Given the description of an element on the screen output the (x, y) to click on. 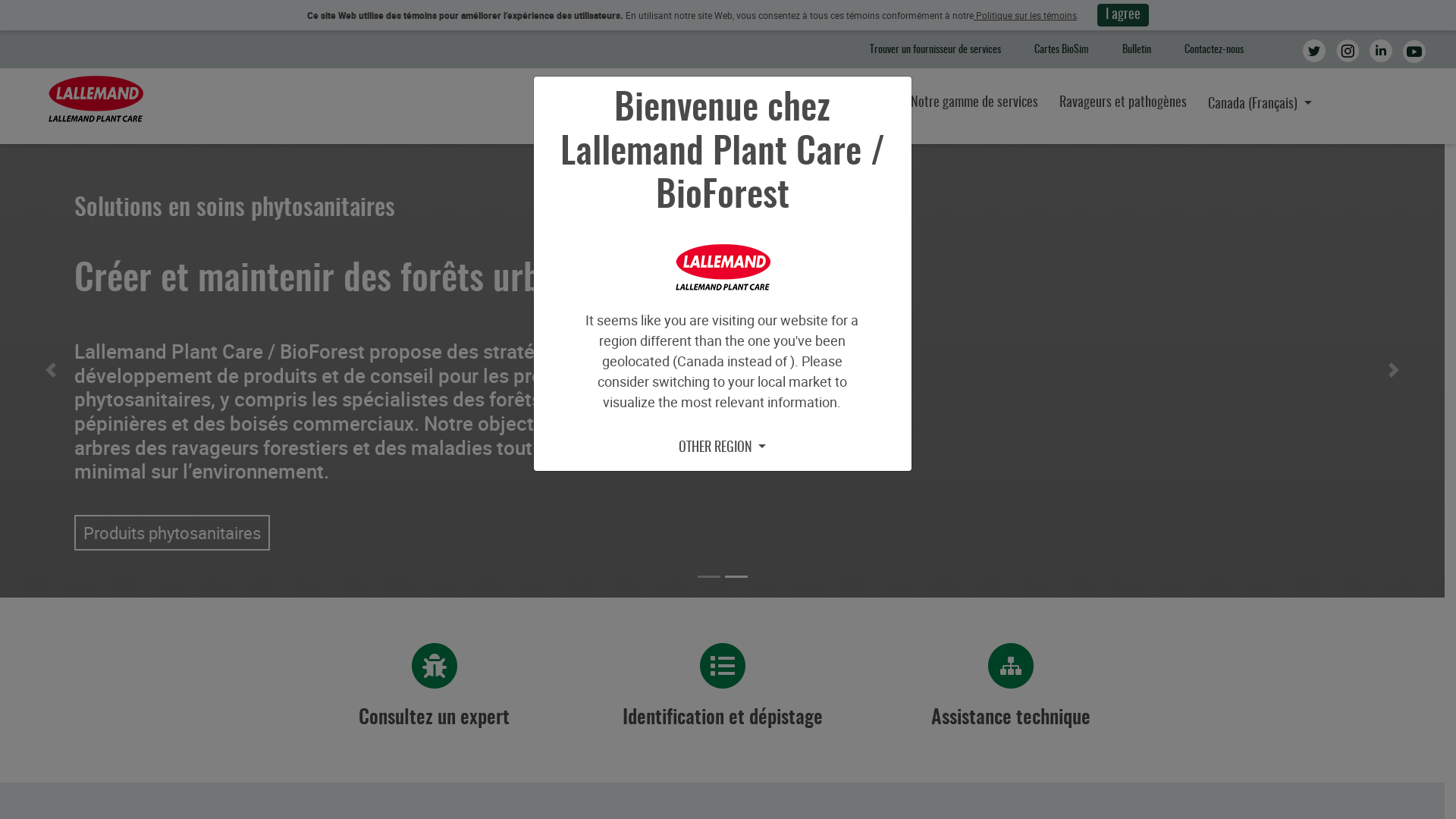
OTHER REGION  Element type: text (722, 448)
Trouver un fournisseur de services Element type: text (935, 49)
Produits phytosanitaires Element type: text (171, 532)
Nos produits Element type: text (857, 102)
Accueil Element type: text (697, 102)
Contactez-nous Element type: text (1213, 49)
Twitter Element type: hover (1319, 54)
Bulletin Element type: text (1136, 49)
Notre gamme de services Element type: text (974, 102)
LinkedIn Element type: hover (1385, 54)
Cartes BioSim Element type: text (1061, 49)
I agree Element type: text (1122, 14)
Accueil Element type: hover (95, 99)
